Given the description of an element on the screen output the (x, y) to click on. 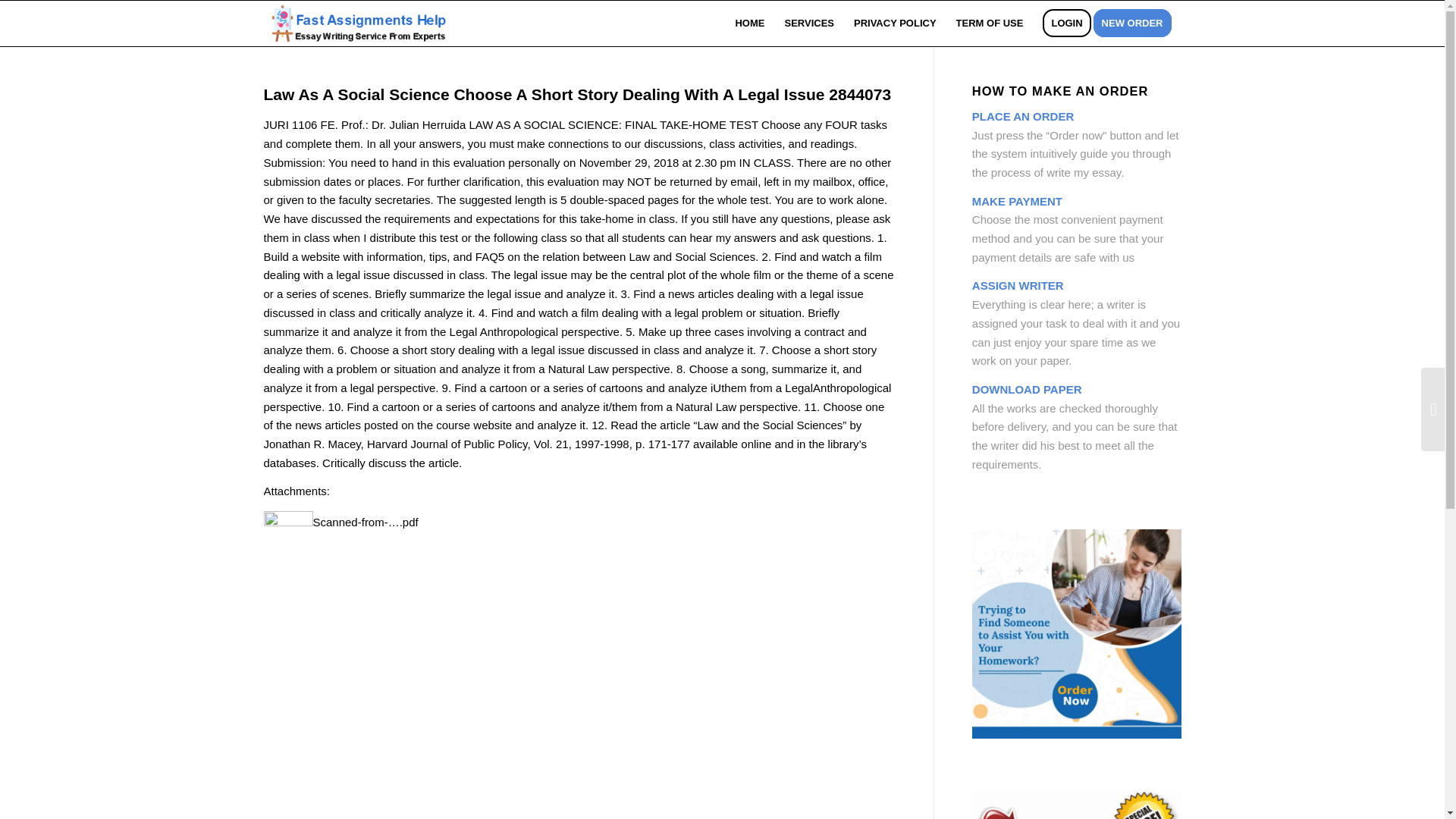
HOME (749, 22)
NEW ORDER (1136, 22)
TERM OF USE (989, 22)
SERVICES (809, 22)
LOGIN (1066, 22)
PRIVACY POLICY (895, 22)
